Given the description of an element on the screen output the (x, y) to click on. 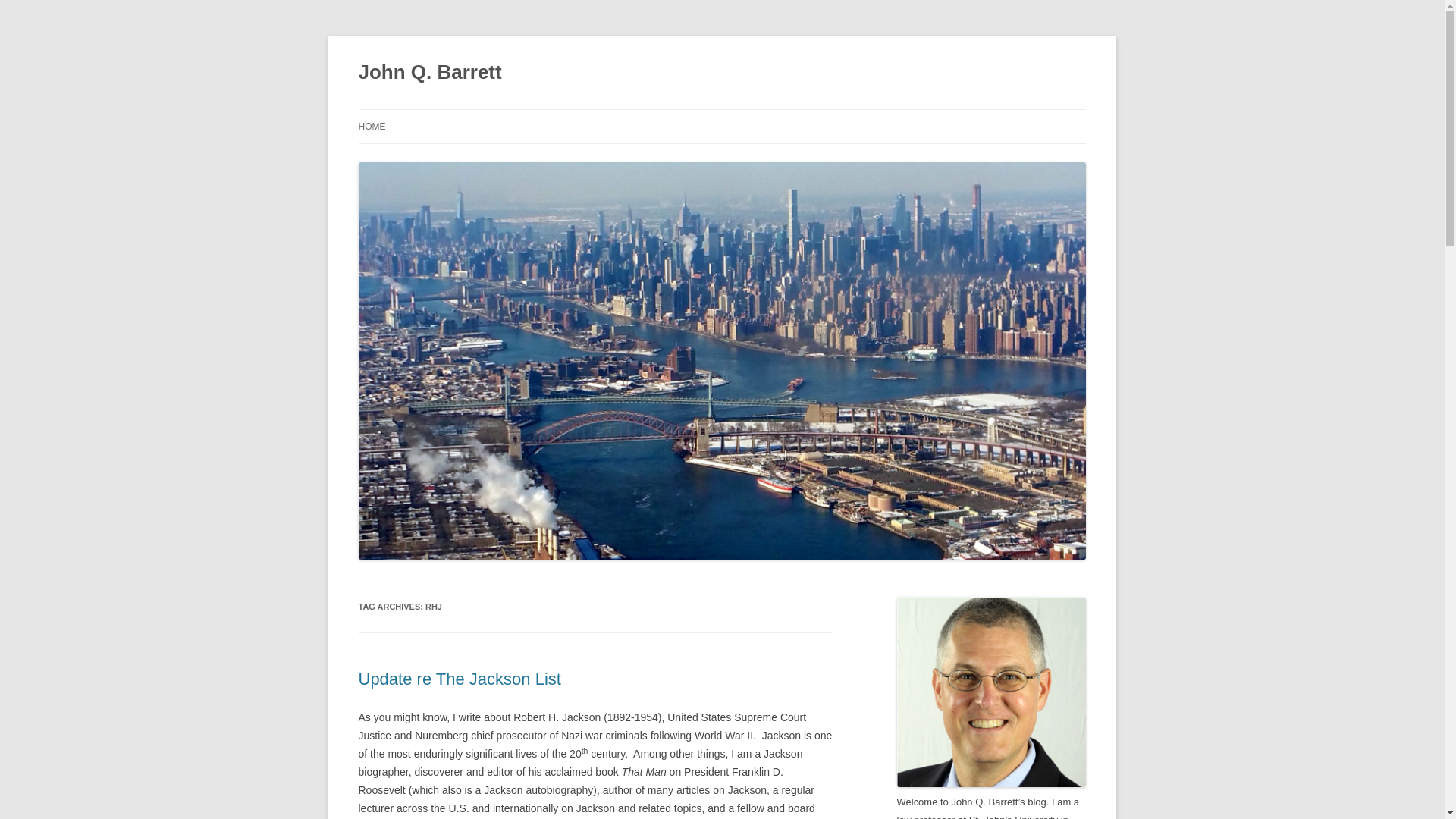
Update re The Jackson List (459, 678)
John Q. Barrett (429, 72)
John Q. Barrett (429, 72)
HOME (371, 126)
